Given the description of an element on the screen output the (x, y) to click on. 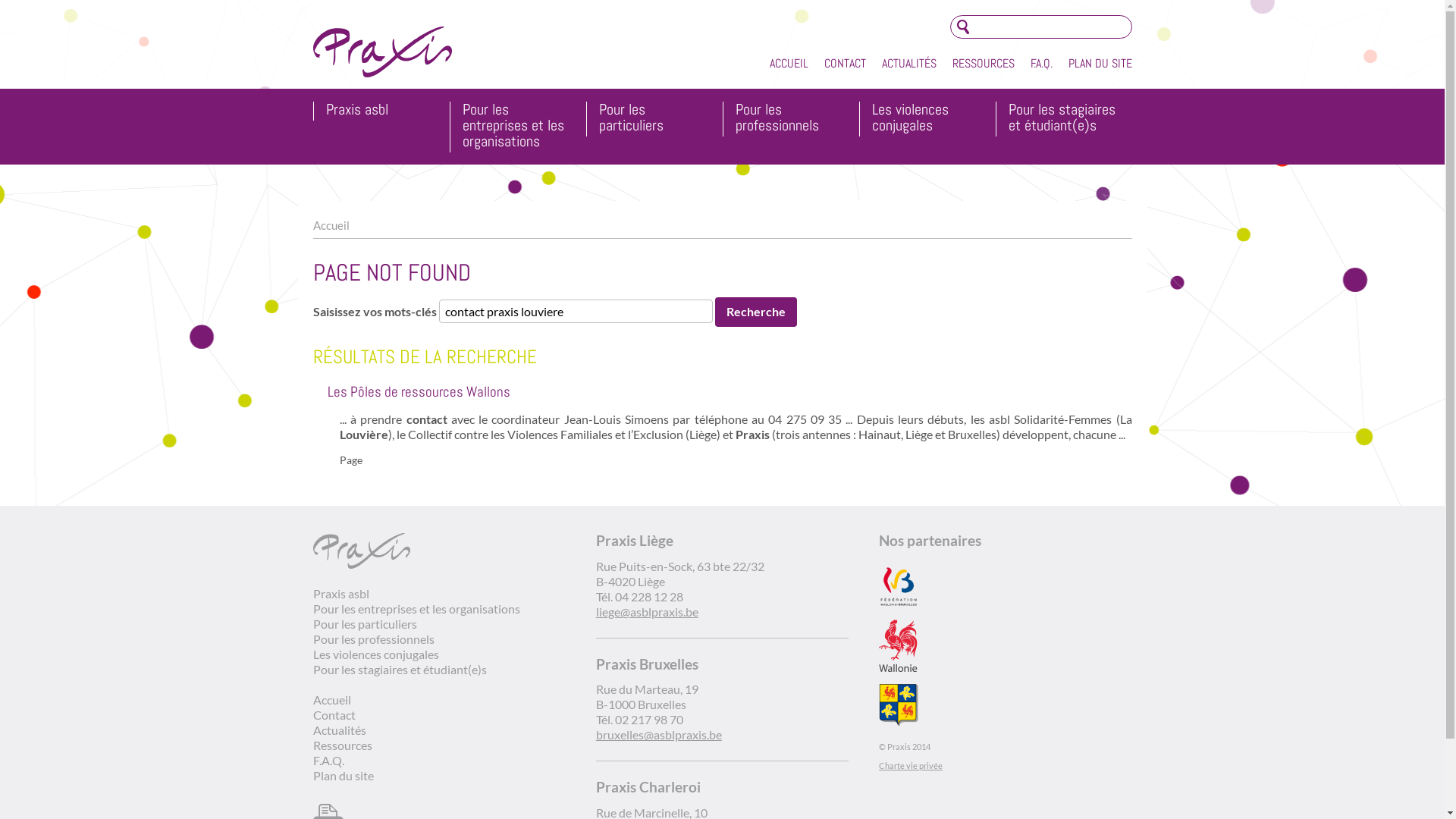
Les violences conjugales Element type: text (927, 118)
Plan du site Element type: text (342, 775)
Contact Element type: text (333, 714)
Pour les particuliers Element type: text (654, 118)
F.A.Q. Element type: text (327, 760)
Les violences conjugales Element type: text (375, 653)
bruxelles@asblpraxis.be Element type: text (658, 734)
Pour les professionnels Element type: text (791, 118)
Ressources Element type: text (341, 744)
PLAN DU SITE Element type: text (1099, 63)
Praxis asbl Element type: text (381, 110)
CONTACT Element type: text (843, 63)
F.A.Q. Element type: text (1040, 63)
liege@asblpraxis.be Element type: text (647, 611)
Pour les particuliers Element type: text (364, 623)
Pour les professionnels Element type: text (372, 638)
Recherche Element type: text (755, 311)
Pour les entreprises et les organisations Element type: text (415, 608)
Pour les entreprises et les organisations Element type: text (518, 126)
Accueil Element type: text (330, 225)
PRAXIS Element type: text (381, 51)
Accueil Element type: text (331, 699)
ACCUEIL Element type: text (788, 63)
Aller au contenu principal Element type: text (66, 0)
RESSOURCES Element type: text (983, 63)
Praxis asbl Element type: text (340, 593)
